Given the description of an element on the screen output the (x, y) to click on. 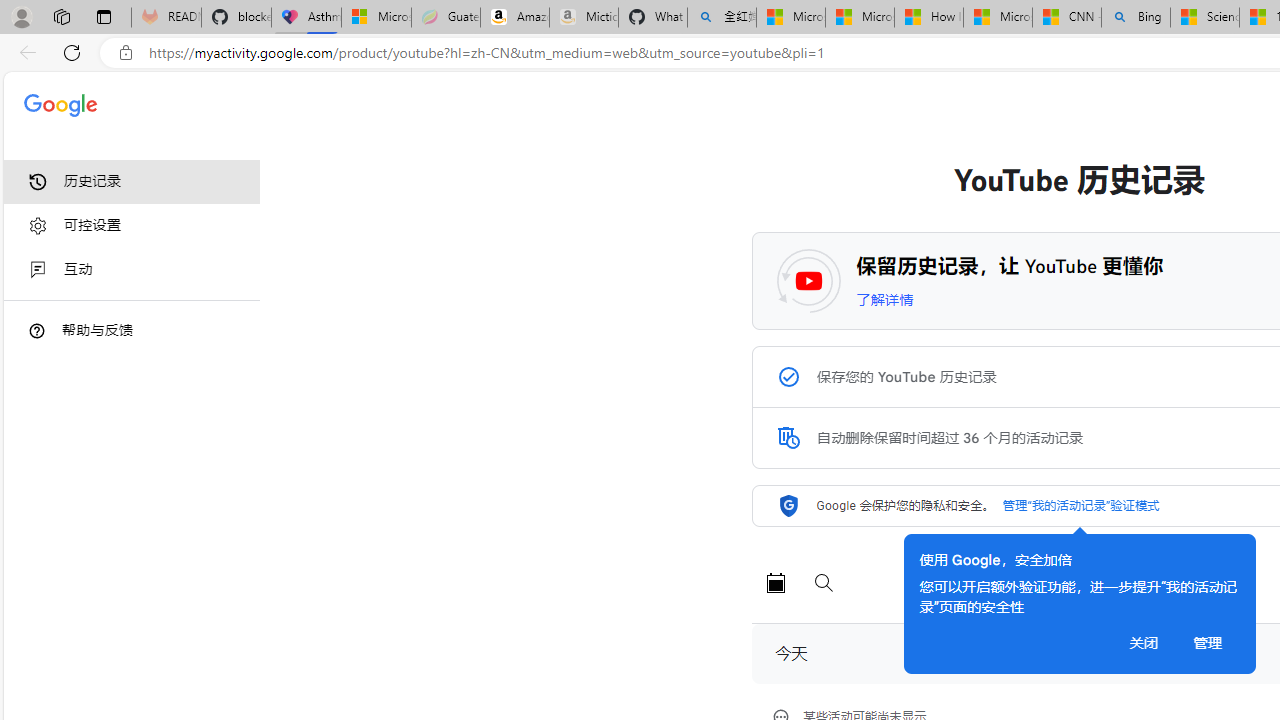
Class: DTiKkd NMm5M (37, 330)
Class: k1qAtf NMm5M (788, 438)
